Given the description of an element on the screen output the (x, y) to click on. 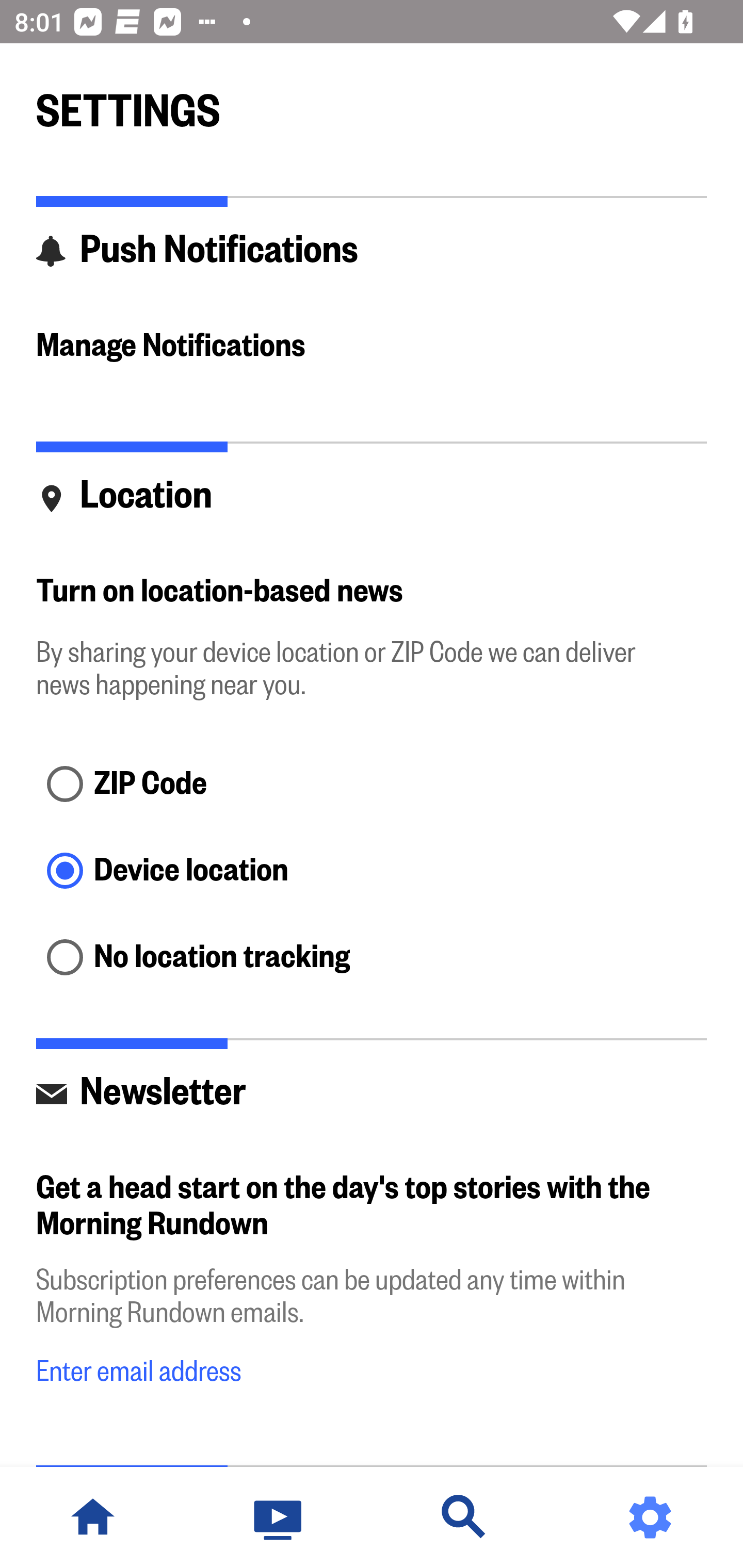
SETTINGS (371, 101)
Manage Notifications (371, 346)
ZIP Code (371, 785)
Device location (371, 872)
No location tracking (371, 958)
NBC News Home (92, 1517)
Watch (278, 1517)
Discover (464, 1517)
